Given the description of an element on the screen output the (x, y) to click on. 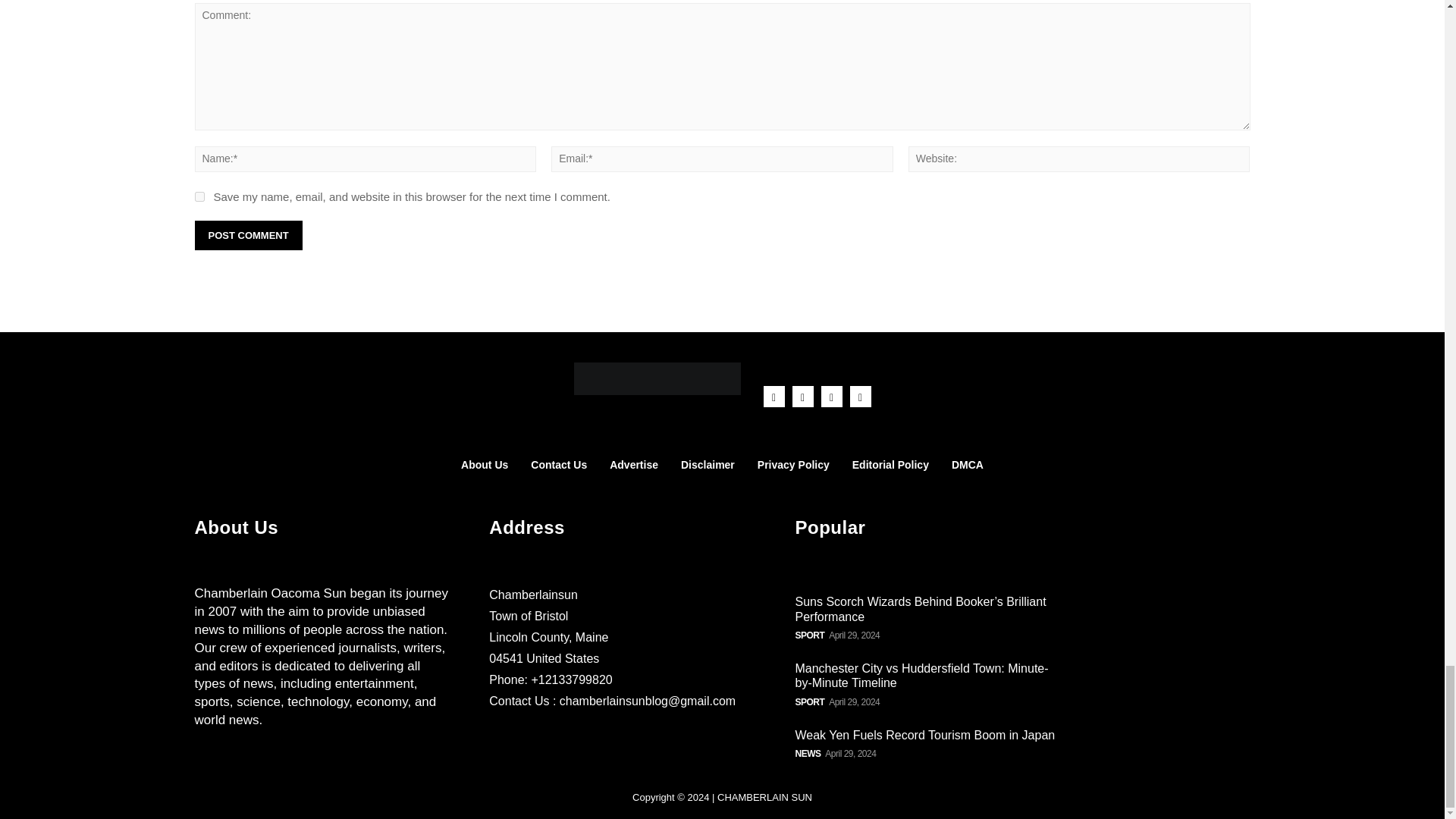
Post Comment (247, 235)
yes (198, 196)
